Given the description of an element on the screen output the (x, y) to click on. 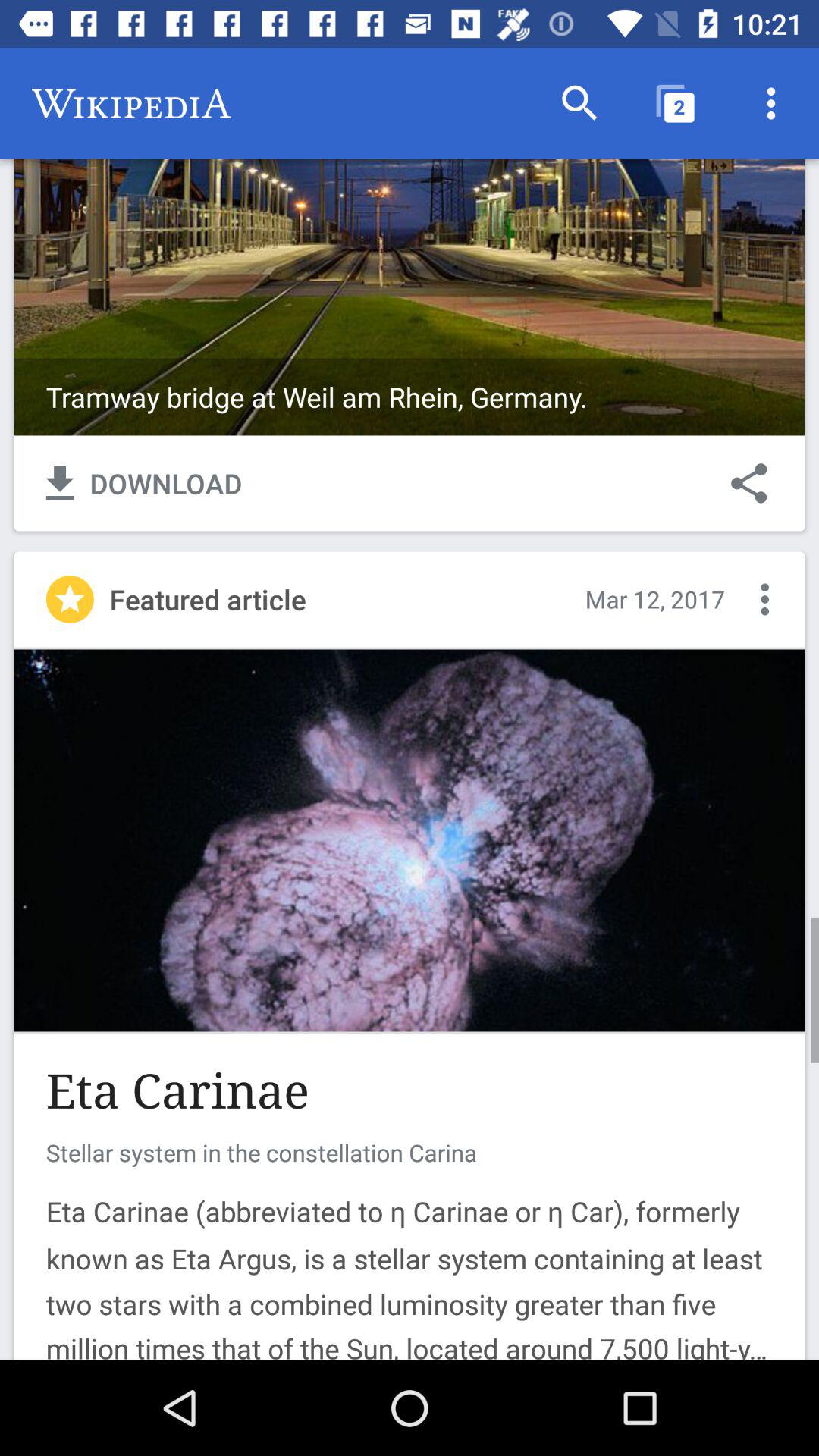
turn off the item above tramway bridge at icon (579, 103)
